Given the description of an element on the screen output the (x, y) to click on. 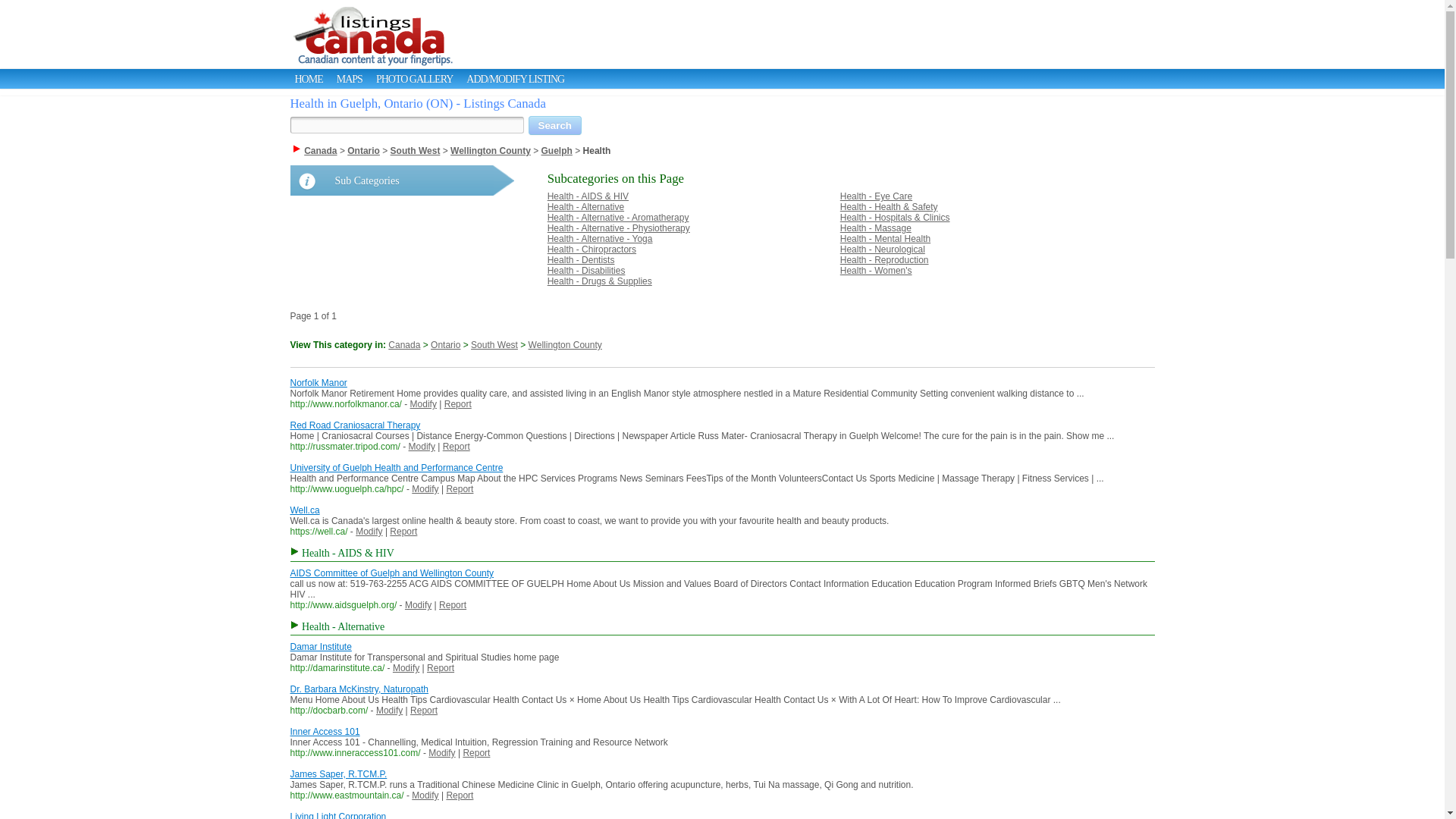
MAPS (349, 79)
Health - Massage (875, 227)
Sub Categories (401, 180)
Health - Reproduction (884, 259)
Health - Neurological (882, 249)
Health - Alternative - Yoga (599, 238)
PHOTO GALLERY (413, 79)
Health - Eye Care (876, 195)
Health - Women's (876, 270)
Health - Dentists (580, 259)
